Given the description of an element on the screen output the (x, y) to click on. 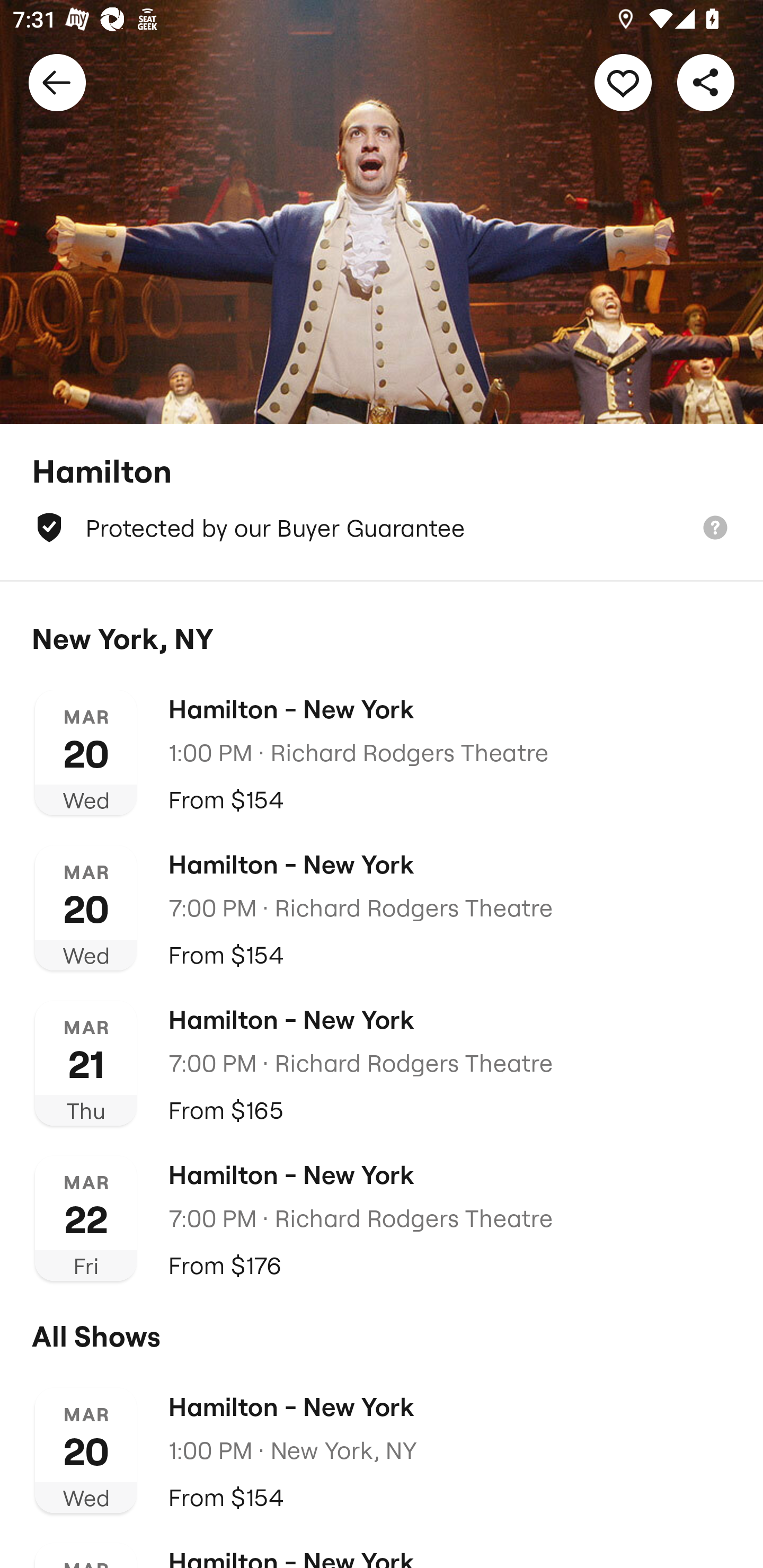
Back (57, 81)
Track this performer (623, 81)
Share this performer (705, 81)
Protected by our Buyer Guarantee Learn more (381, 527)
